Given the description of an element on the screen output the (x, y) to click on. 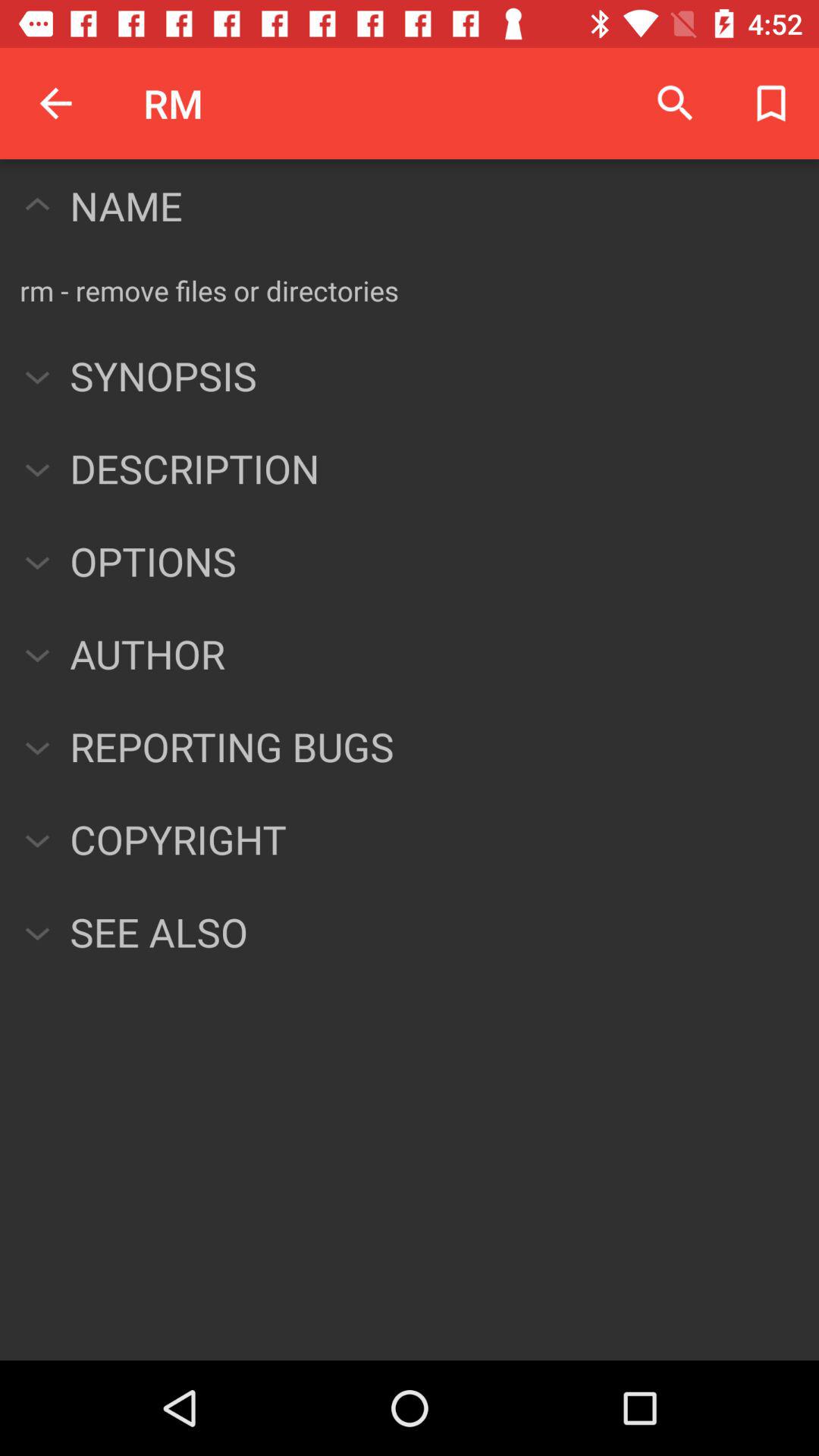
jump to the rm remove files icon (208, 290)
